Given the description of an element on the screen output the (x, y) to click on. 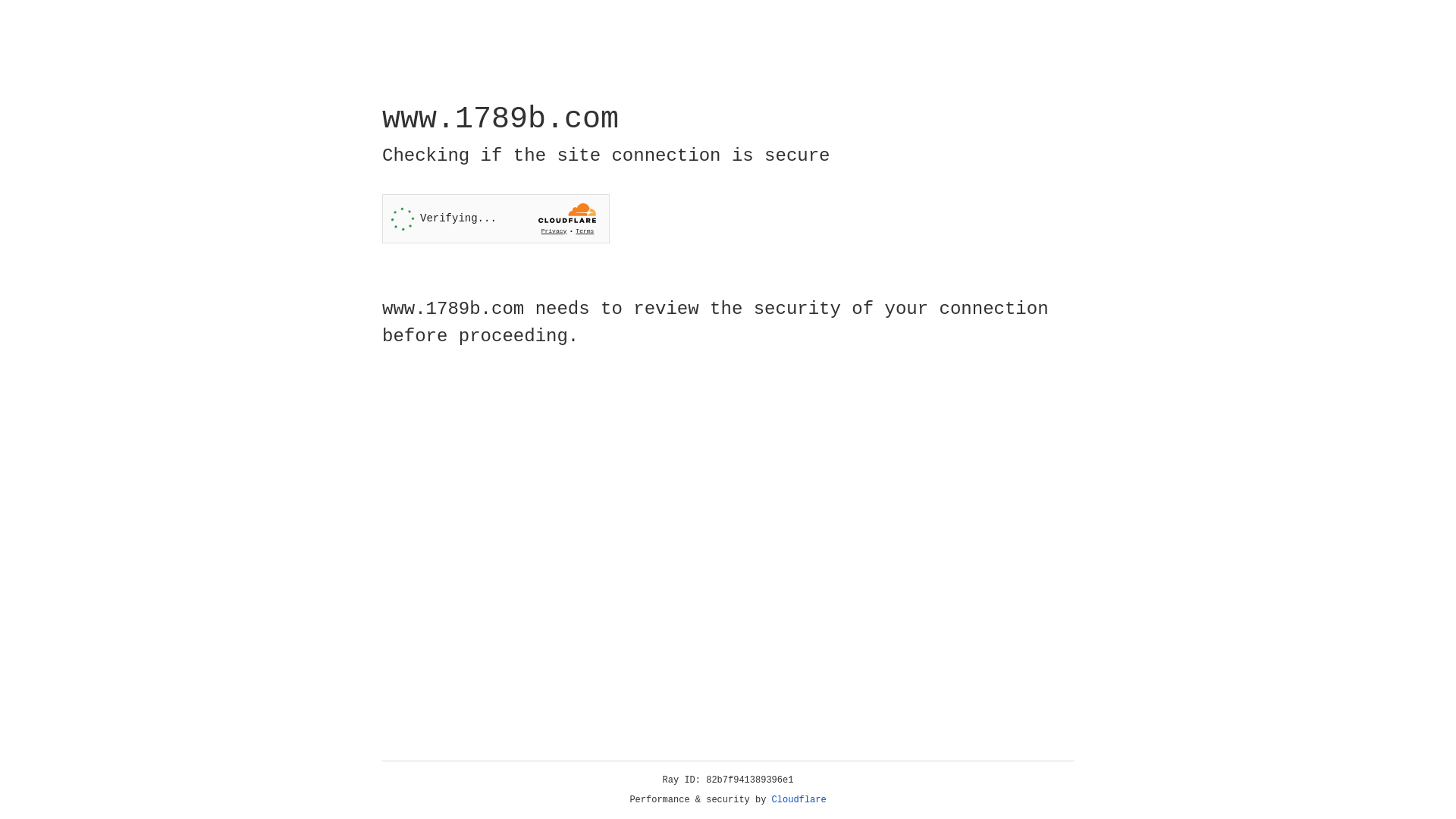
Widget containing a Cloudflare security challenge Element type: hover (495, 218)
Cloudflare Element type: text (798, 799)
